Given the description of an element on the screen output the (x, y) to click on. 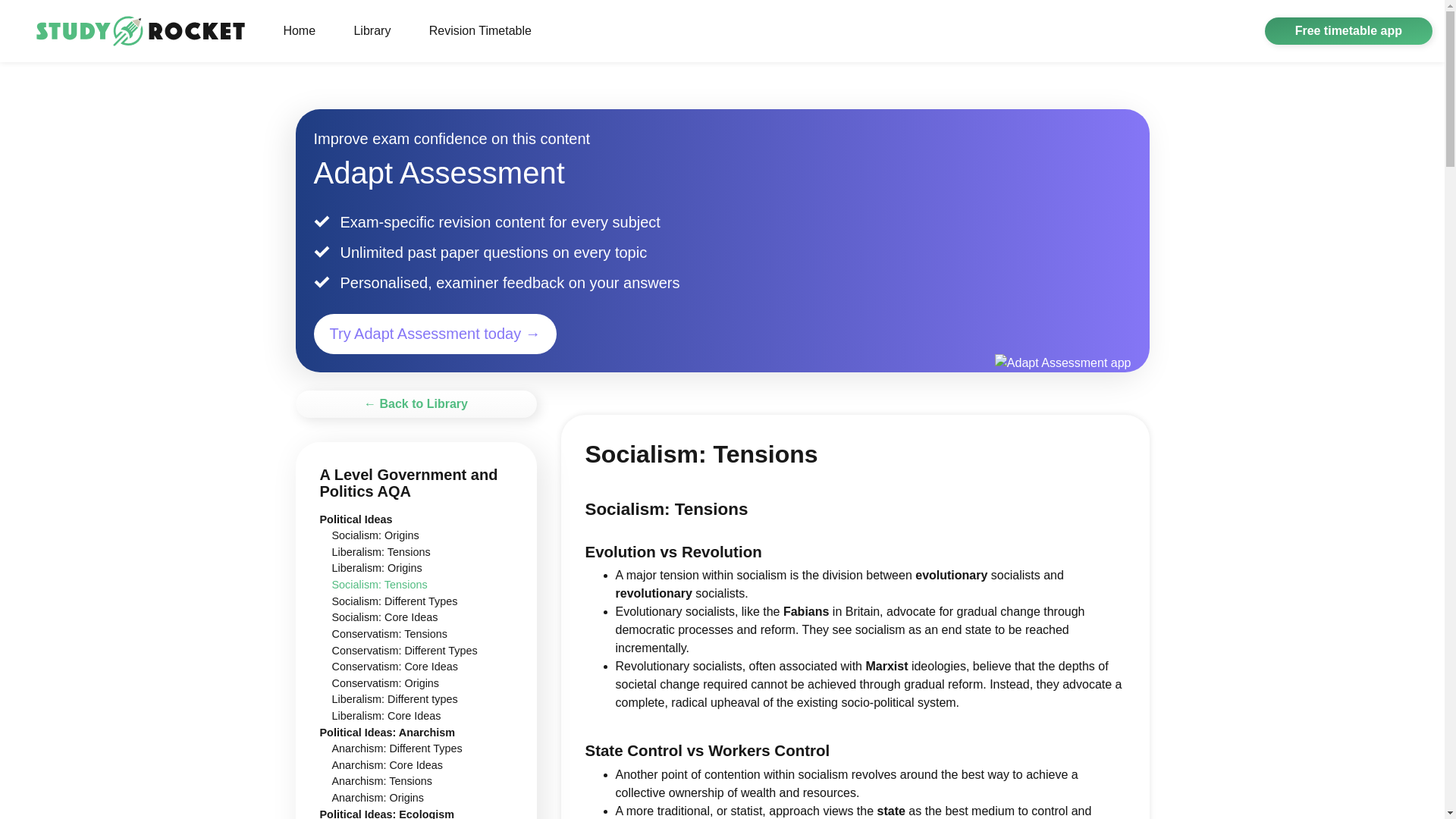
Conservatism: Tensions (389, 633)
Revision Timetable (479, 30)
Library (371, 30)
Socialism: Tensions (379, 584)
Socialism: Different Types (394, 601)
Free timetable app (1348, 31)
Conservatism: Different Types (404, 650)
Anarchism: Origins (378, 797)
Liberalism: Core Ideas (386, 715)
Home (298, 30)
